Given the description of an element on the screen output the (x, y) to click on. 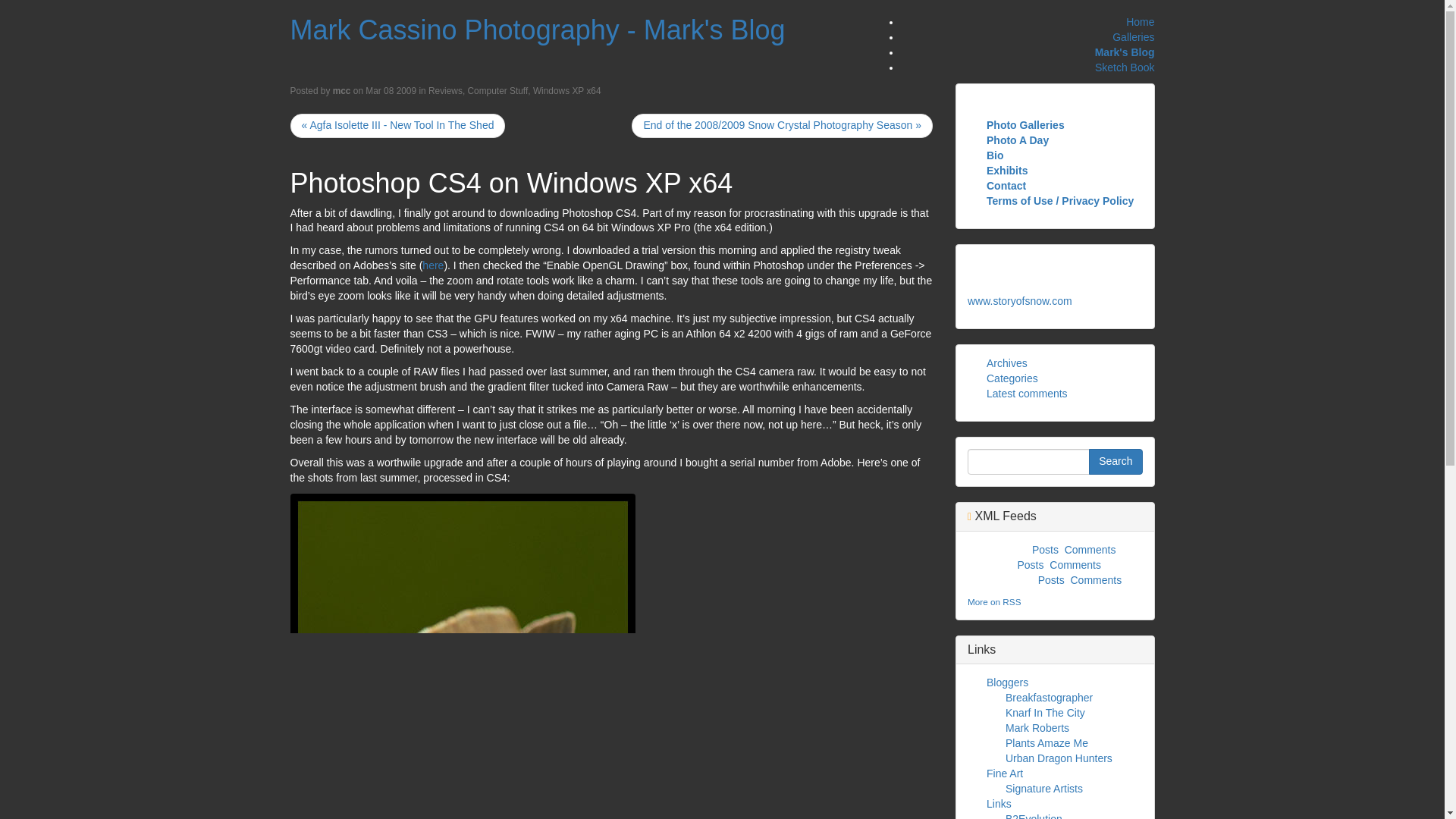
Comments (1074, 564)
here (433, 265)
Posts (1051, 580)
Home (1139, 21)
Windows XP x64 (566, 90)
Photo A Day (1017, 140)
Reviews (445, 90)
Bio (995, 155)
Search (1115, 461)
Browse category (497, 90)
